Given the description of an element on the screen output the (x, y) to click on. 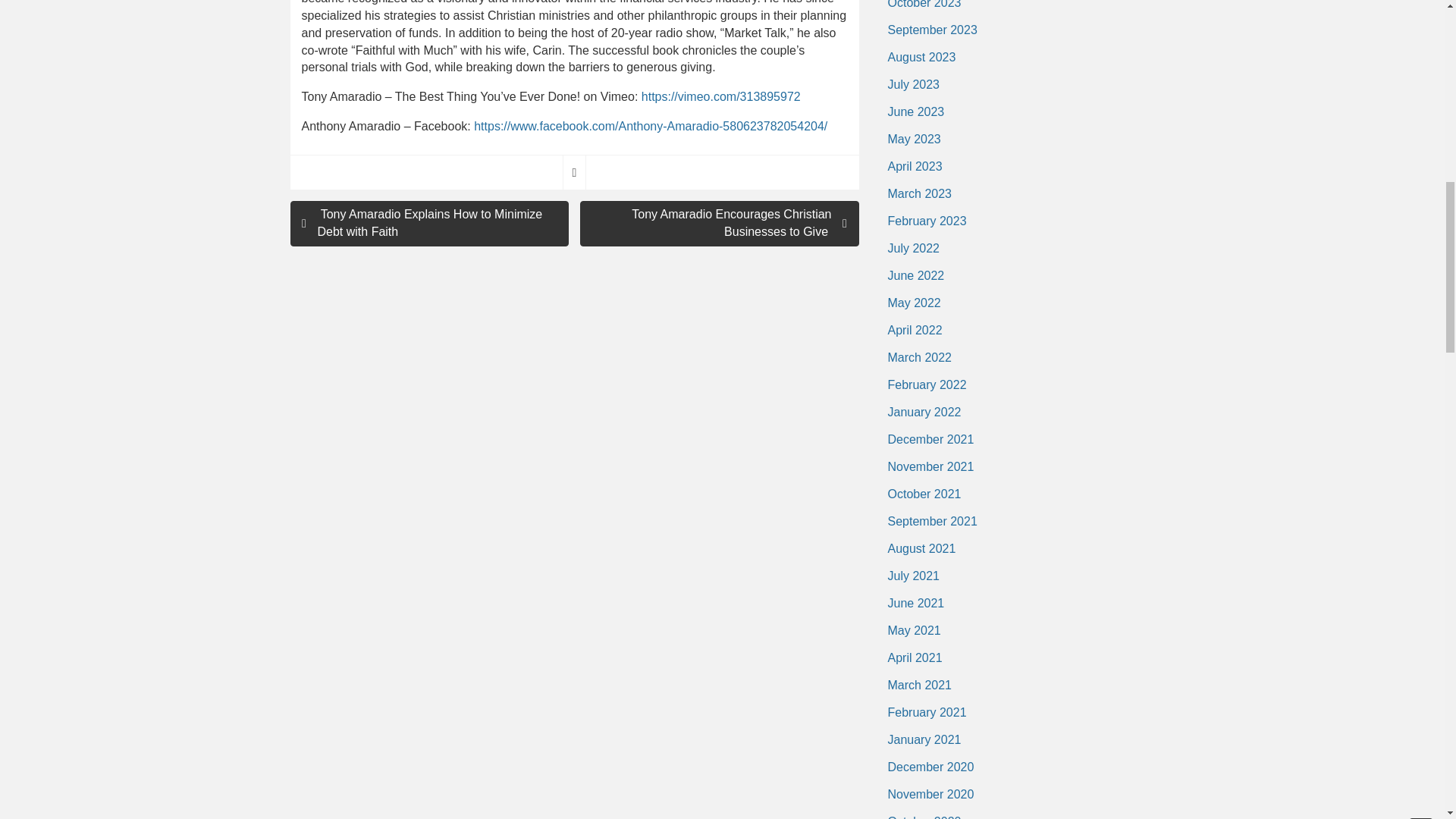
Tony Amaradio Encourages Christian Businesses to Give  (719, 223)
August 2023 (920, 57)
July 2023 (912, 84)
October 2023 (923, 8)
June 2023 (915, 112)
 Tony Amaradio Explains How to Minimize Debt with Faith (429, 223)
September 2023 (931, 30)
